Given the description of an element on the screen output the (x, y) to click on. 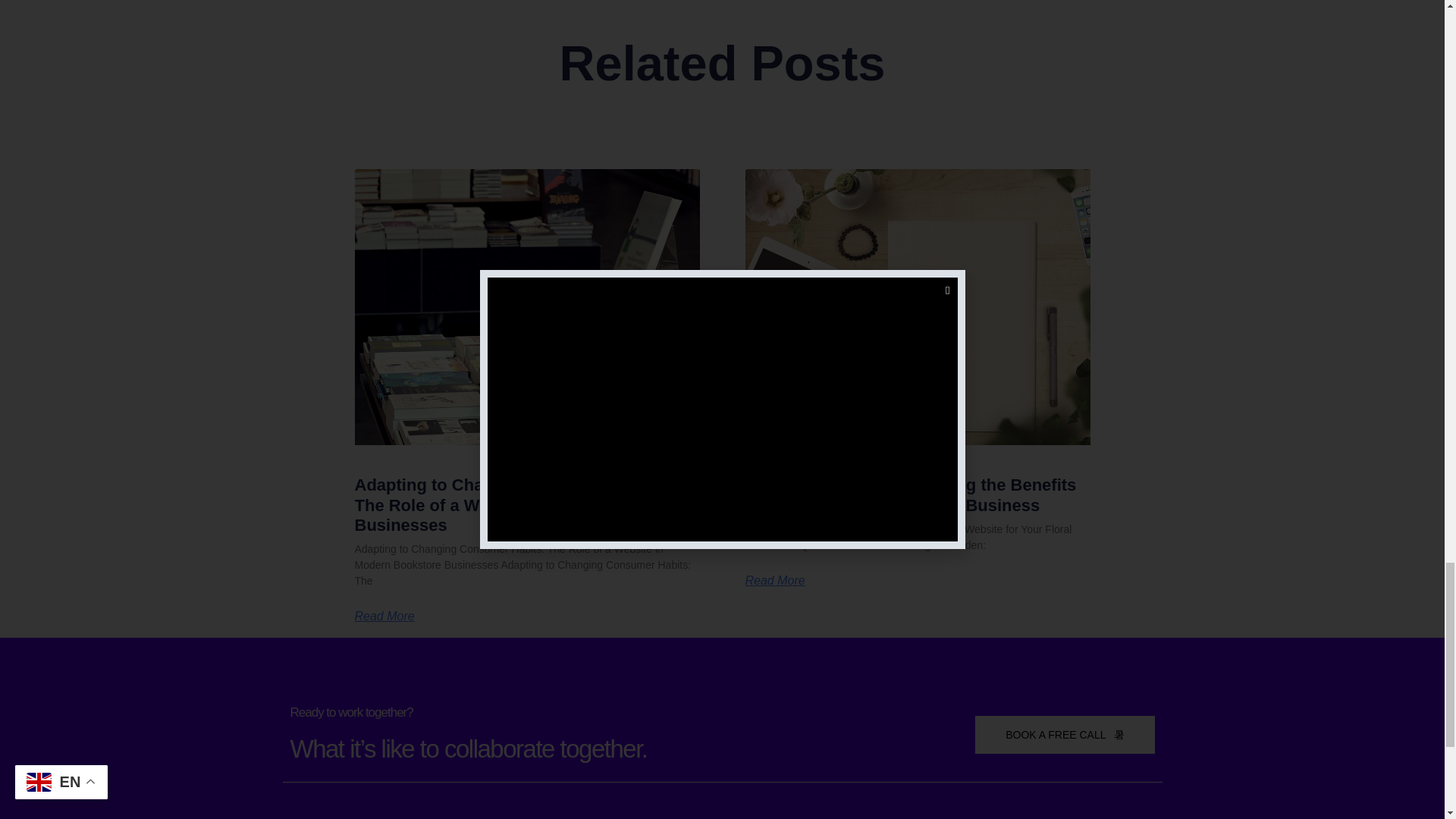
Read More (384, 616)
BOOK A FREE CALL (1064, 734)
Read More (774, 580)
